Given the description of an element on the screen output the (x, y) to click on. 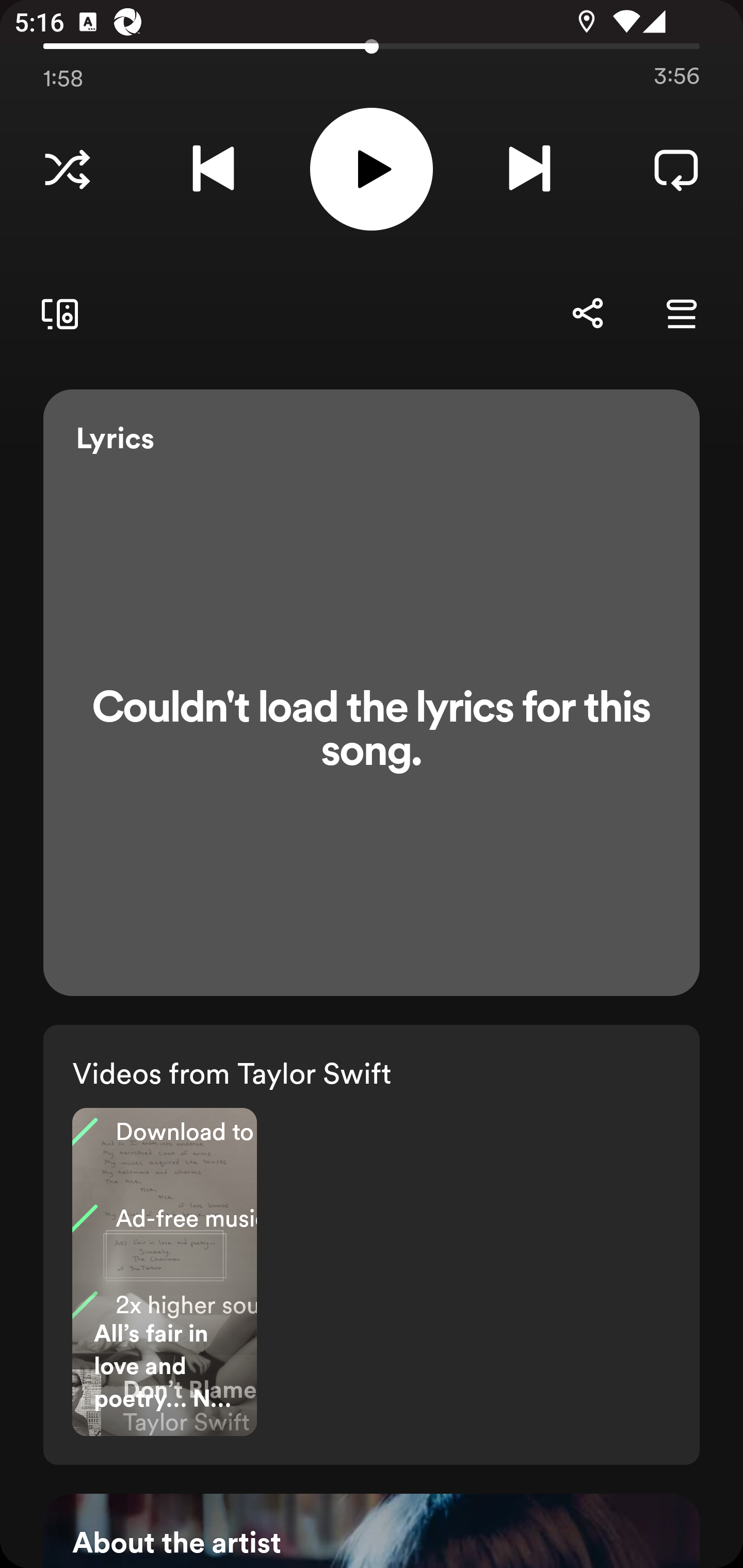
118000.0 Use volume keys to adjust (371, 42)
Play (371, 169)
Previous (212, 168)
Next (529, 168)
Choose a Listening Mode (66, 168)
Repeat (676, 168)
Share (587, 313)
Go to Queue (681, 313)
Connect to a device. Opens the devices menu (55, 313)
